Given the description of an element on the screen output the (x, y) to click on. 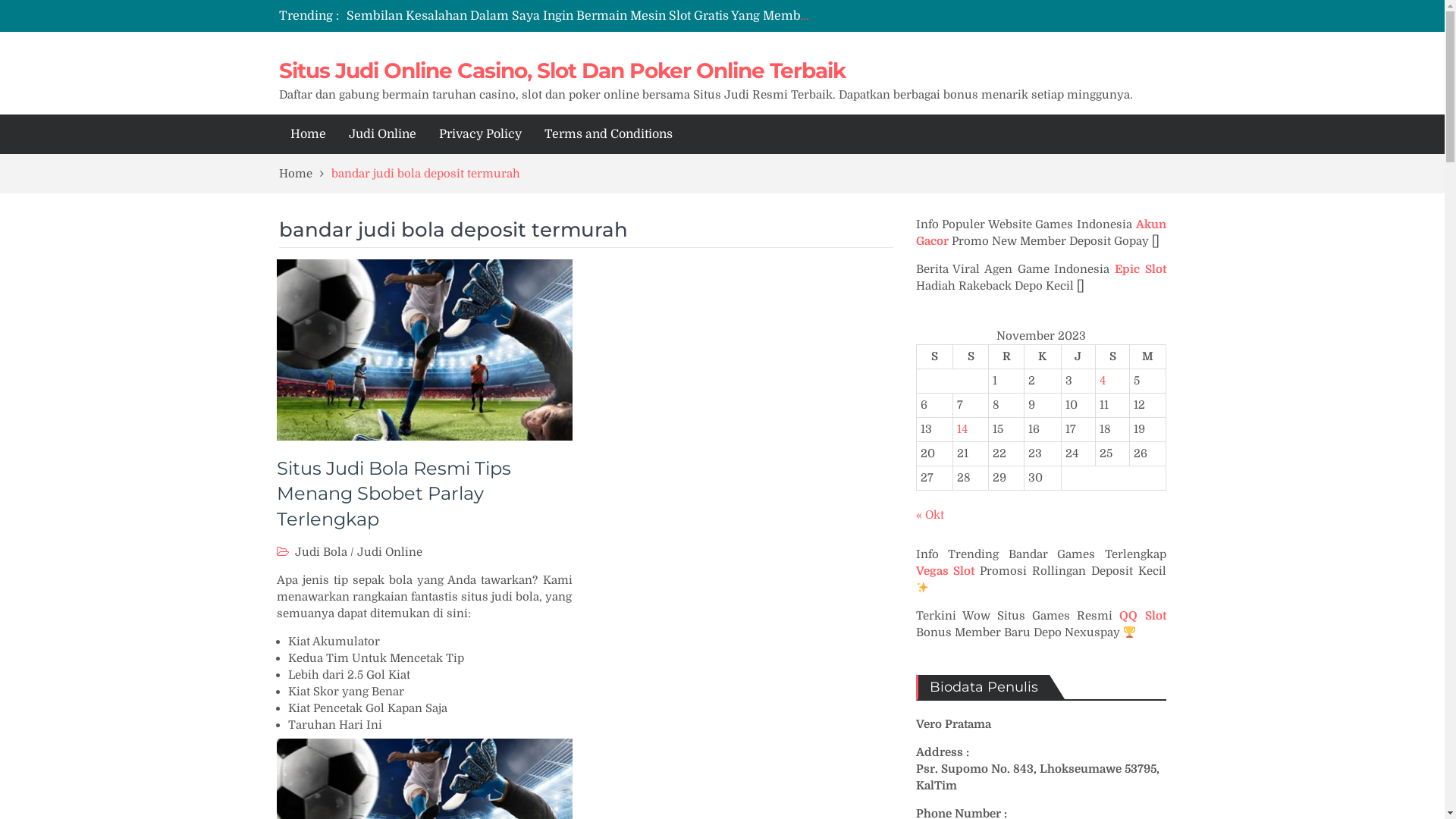
QQ Slot Element type: text (1142, 615)
Situs Judi Online Casino, Slot Dan Poker Online Terbaik Element type: text (562, 70)
4 Element type: text (1102, 380)
Vegas Slot Element type: text (945, 570)
Judi Online Element type: text (388, 551)
Privacy Policy Element type: text (480, 133)
Judi Online Element type: text (381, 133)
Home Element type: text (308, 133)
Judi Bola Element type: text (320, 551)
Akun Gacor Element type: text (1041, 232)
Situs Judi Bola Resmi Tips Menang Sbobet Parlay Terlengkap Element type: text (393, 493)
Home Element type: text (305, 173)
Epic Slot Element type: text (1140, 269)
14 Element type: text (962, 429)
Terms and Conditions Element type: text (607, 133)
